Given the description of an element on the screen output the (x, y) to click on. 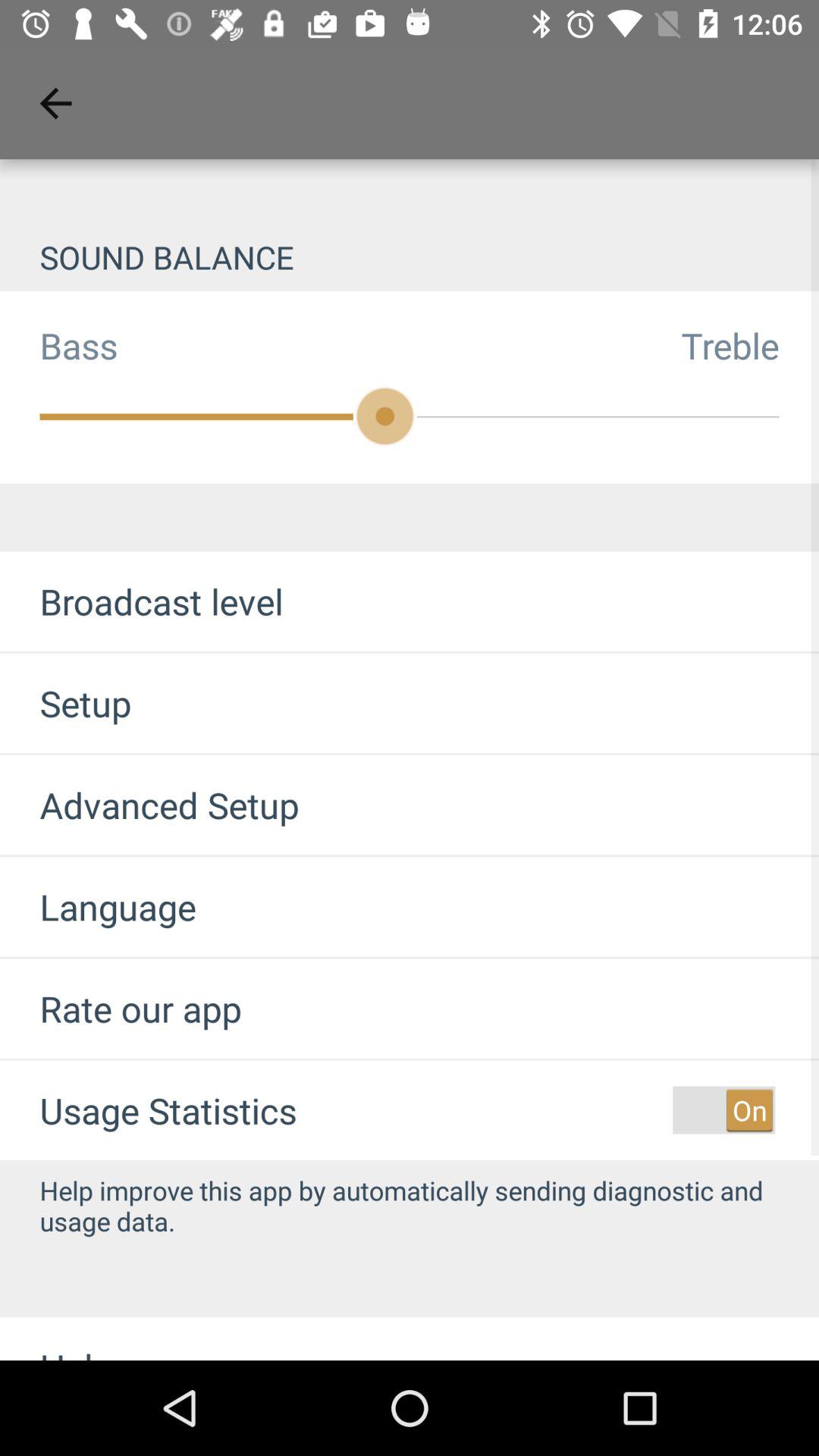
press item at the bottom right corner (723, 1110)
